Given the description of an element on the screen output the (x, y) to click on. 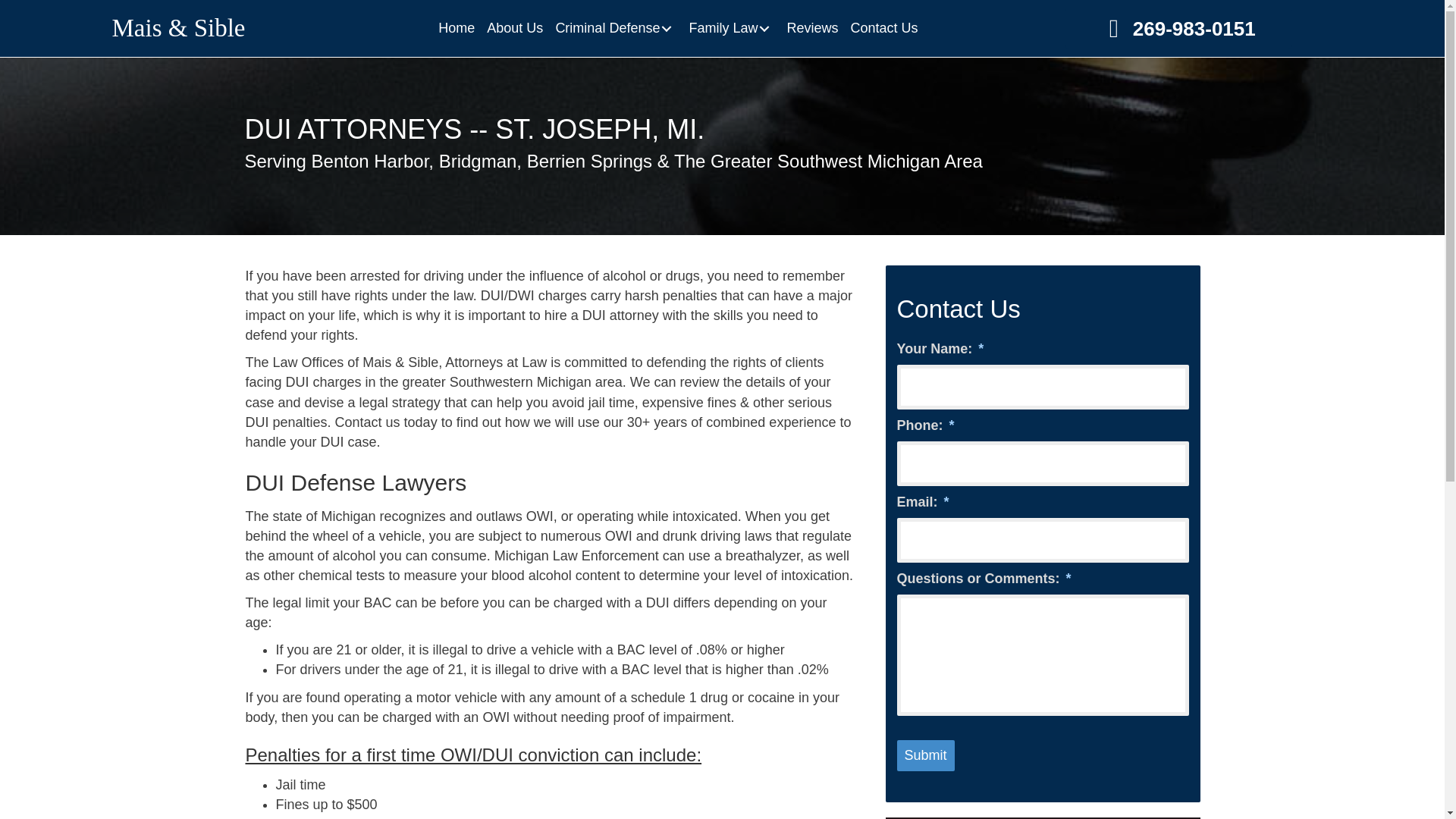
Criminal Defense (615, 28)
Submit (924, 756)
About Us (514, 28)
Click Here (1178, 28)
Family Law (731, 28)
